Given the description of an element on the screen output the (x, y) to click on. 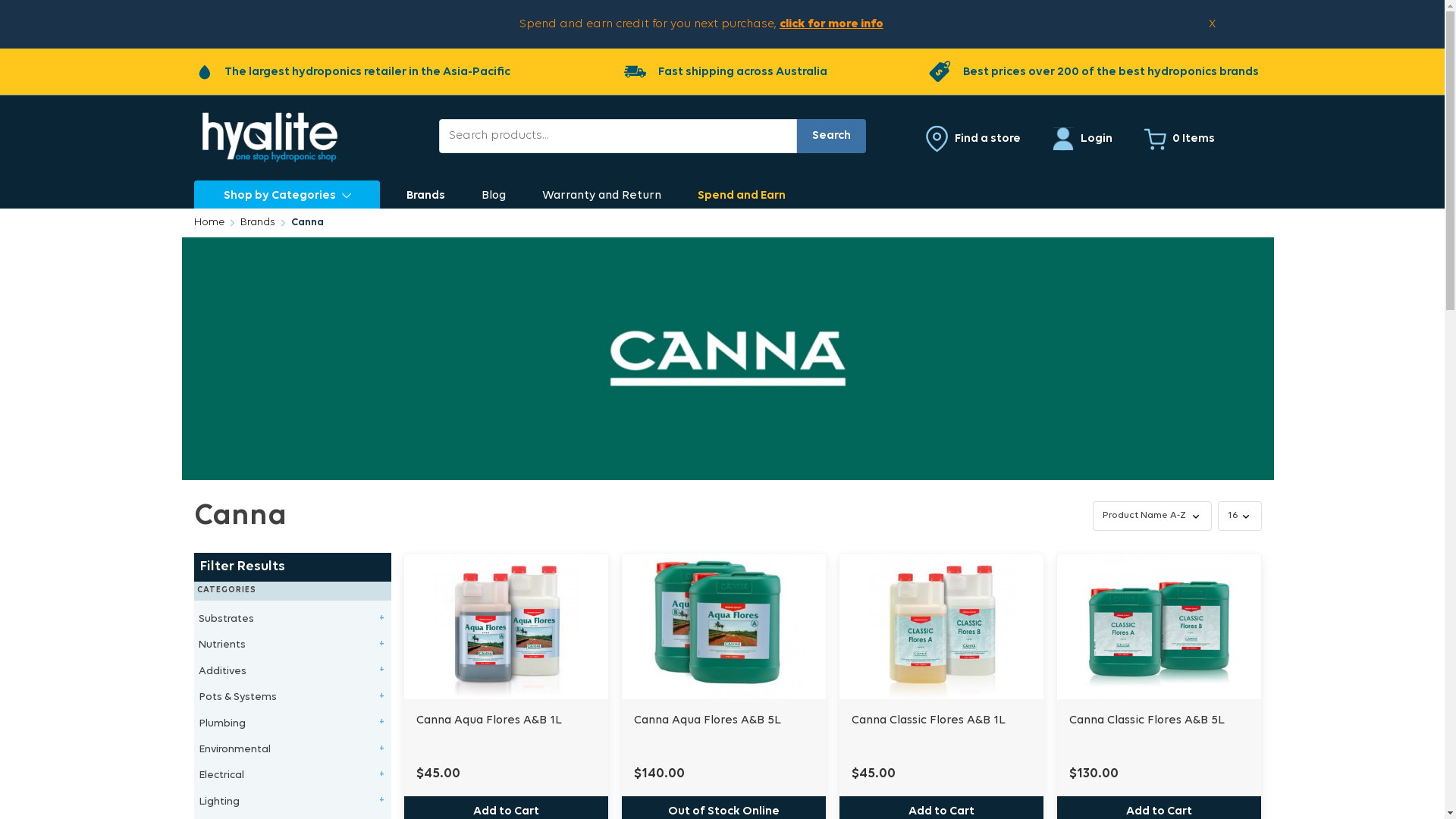
Home Element type: text (209, 222)
Spend and Earn Element type: text (741, 195)
0 Items Element type: text (1178, 139)
Shop by Categories Element type: text (286, 194)
Warranty and Return Element type: text (601, 195)
Find a store Element type: text (972, 138)
Search Element type: text (831, 136)
Login Element type: text (1081, 138)
Blog Element type: text (493, 195)
Brands Element type: text (257, 222)
click for more info Element type: text (831, 24)
Brands Element type: text (425, 195)
